Given the description of an element on the screen output the (x, y) to click on. 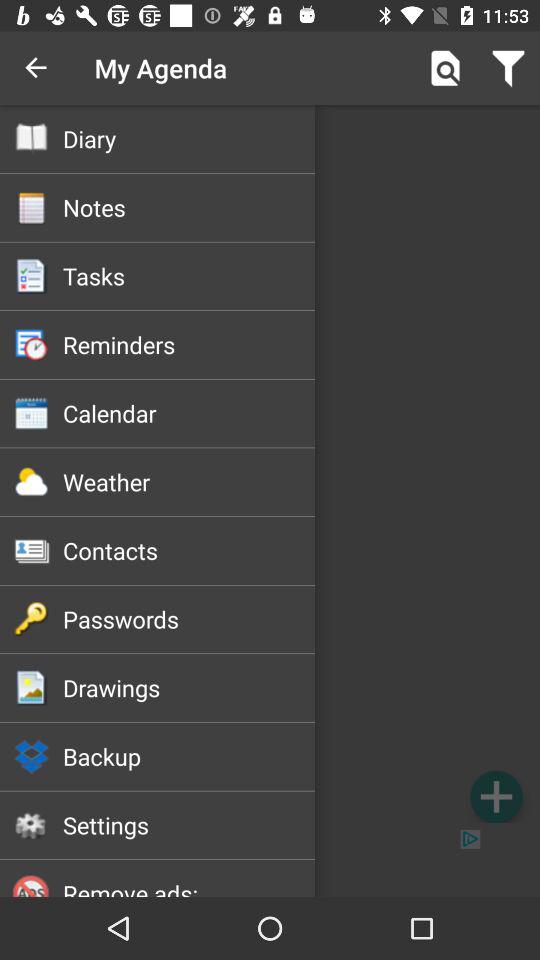
open icon below the tasks (188, 344)
